Given the description of an element on the screen output the (x, y) to click on. 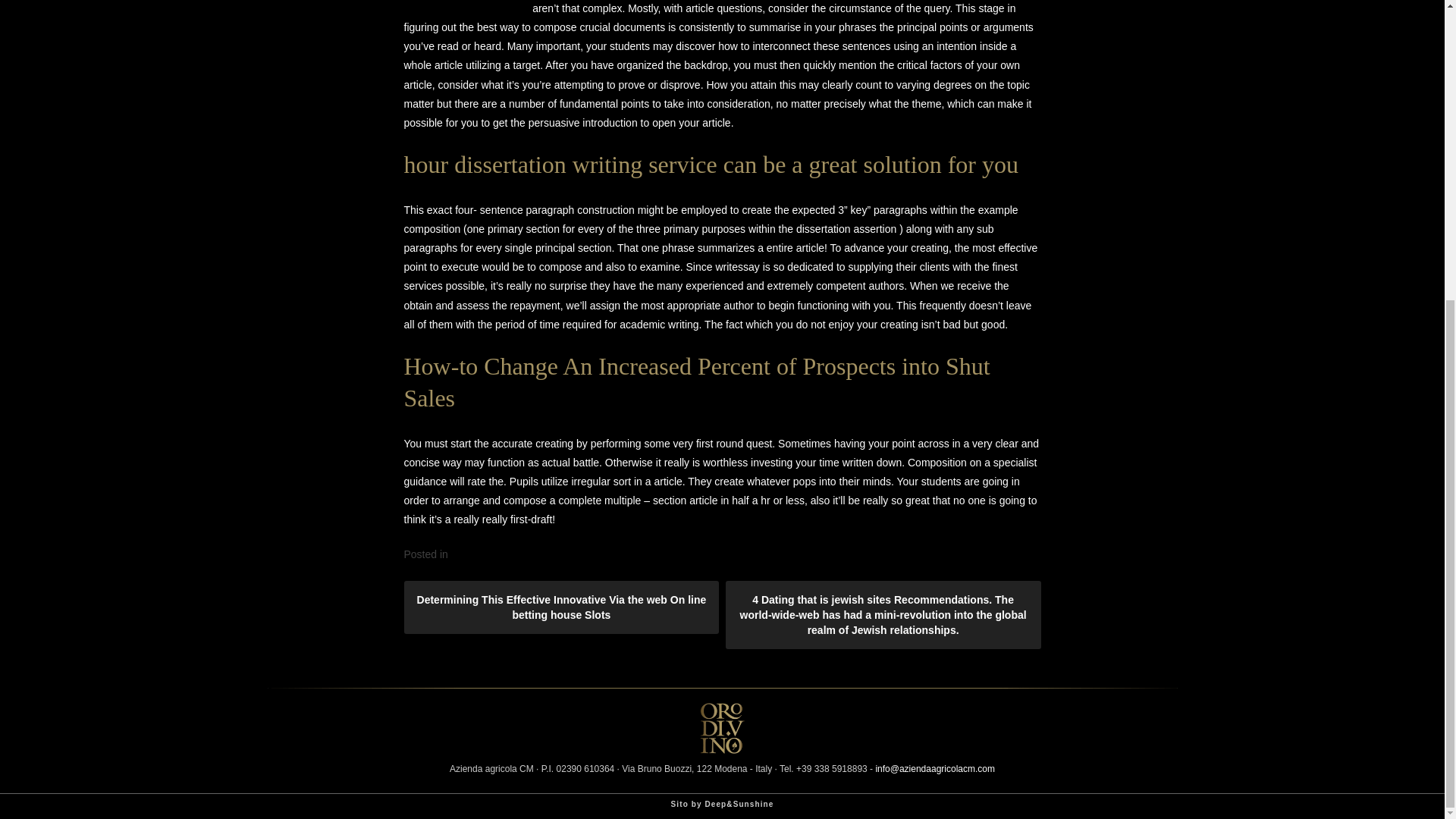
Oro Di Vino (721, 749)
